Given the description of an element on the screen output the (x, y) to click on. 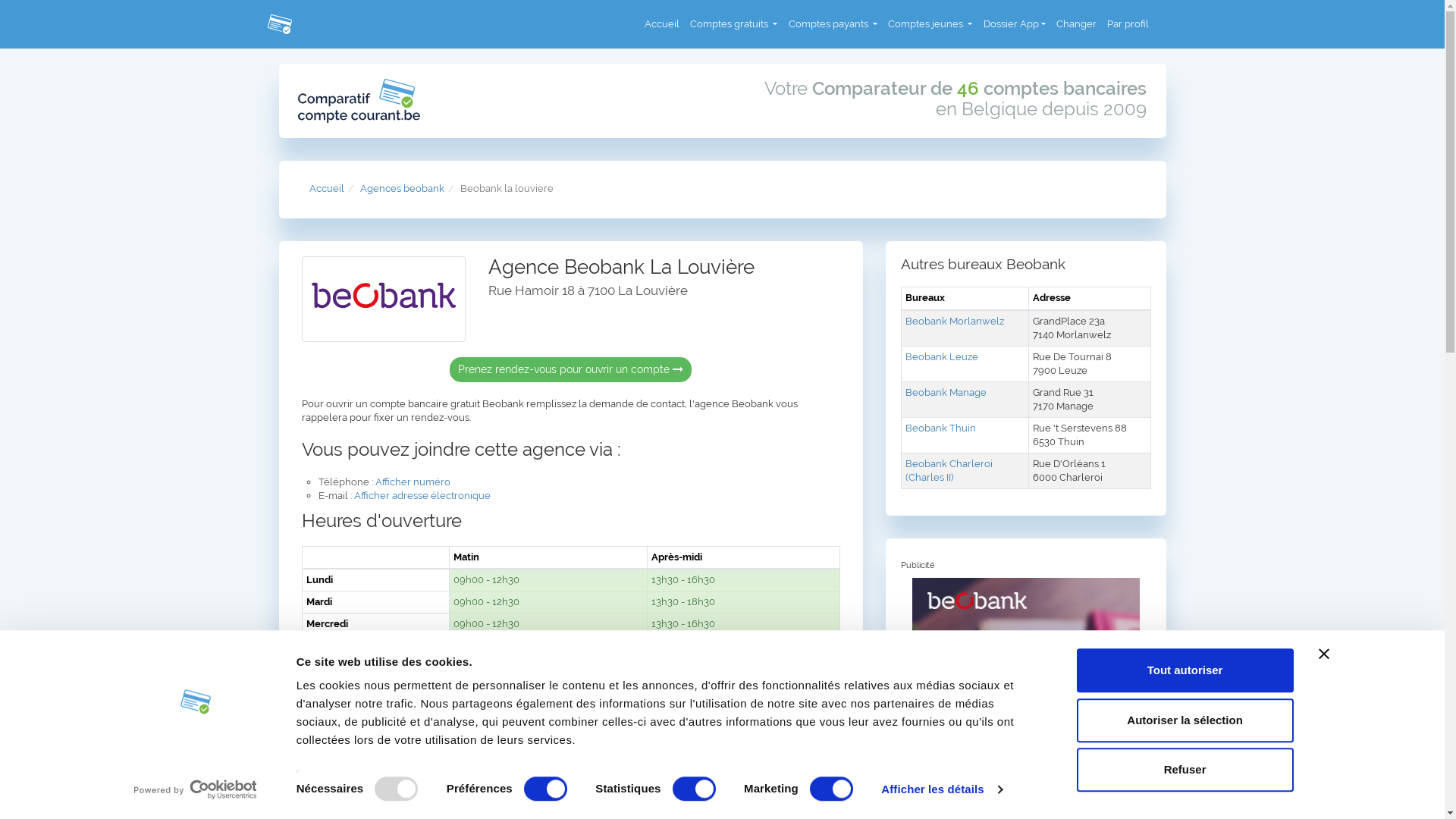
Agences beobank Element type: text (401, 188)
Accueil Element type: text (326, 188)
Par profil Element type: text (1127, 24)
Beobank Morlanwelz Element type: text (954, 320)
Comptes jeunes Element type: text (930, 24)
Tout autoriser Element type: text (1184, 670)
Accueil Element type: text (661, 24)
Comptes gratuits Element type: text (733, 24)
Refuser Element type: text (1184, 769)
Dossier App Element type: text (1014, 24)
Beobank Leuze Element type: text (941, 356)
Beobank Thuin Element type: text (940, 427)
Changer Element type: text (1076, 24)
Comptes payants Element type: text (832, 24)
Beobank Charleroi
(Charles II) Element type: text (948, 470)
Prenez rendez-vous pour ouvrir un compte Element type: text (570, 369)
Beobank Manage Element type: text (945, 392)
